Given the description of an element on the screen output the (x, y) to click on. 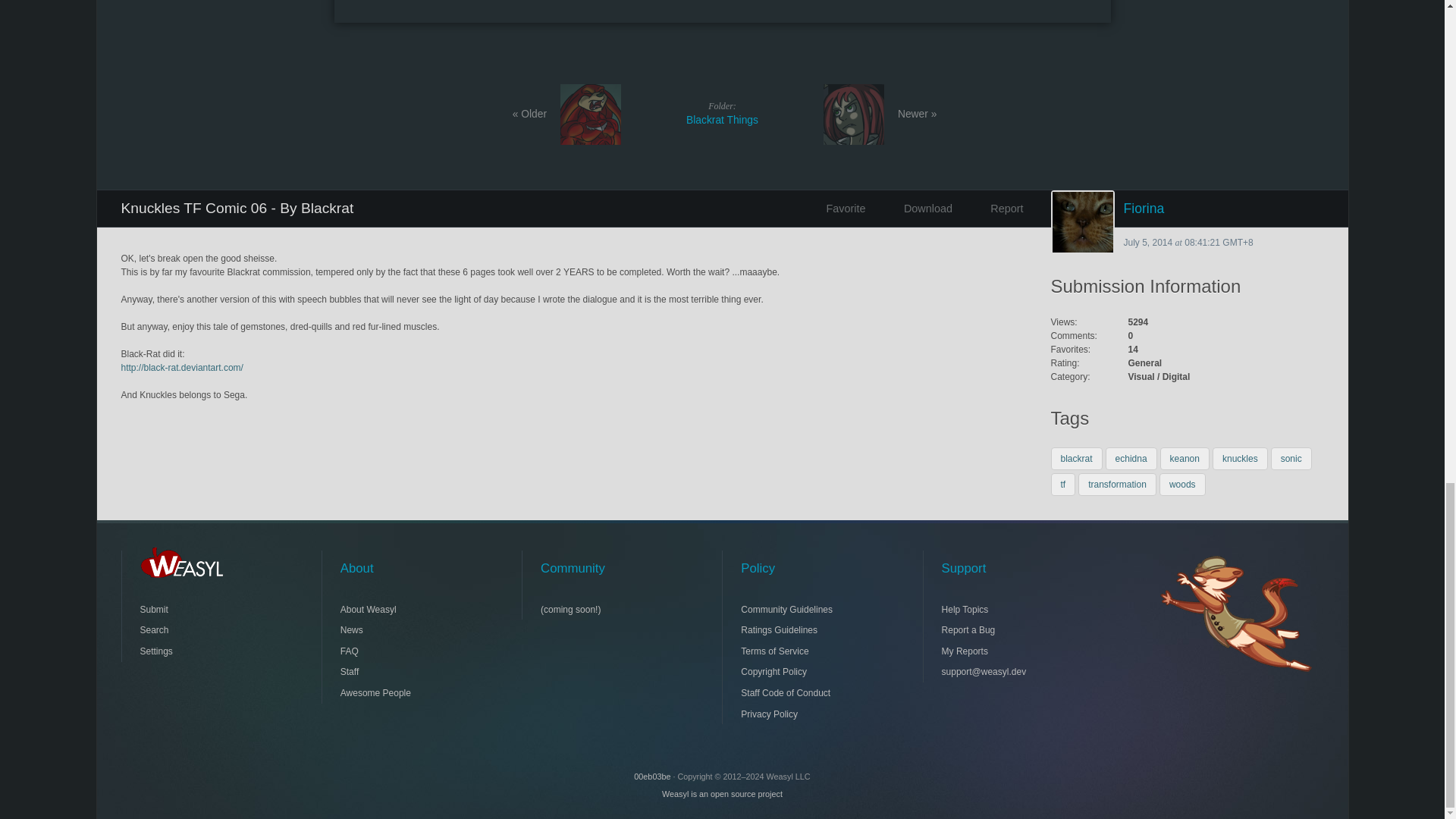
sonic (1291, 458)
blackrat (1076, 458)
Search (204, 629)
keanon (1184, 458)
Download (918, 208)
Fiorina (1187, 208)
tf (1063, 484)
Report (993, 208)
Favorite (841, 208)
woods (1181, 484)
knuckles (1240, 458)
Settings (204, 650)
Submit (204, 608)
About Weasyl (721, 113)
